Given the description of an element on the screen output the (x, y) to click on. 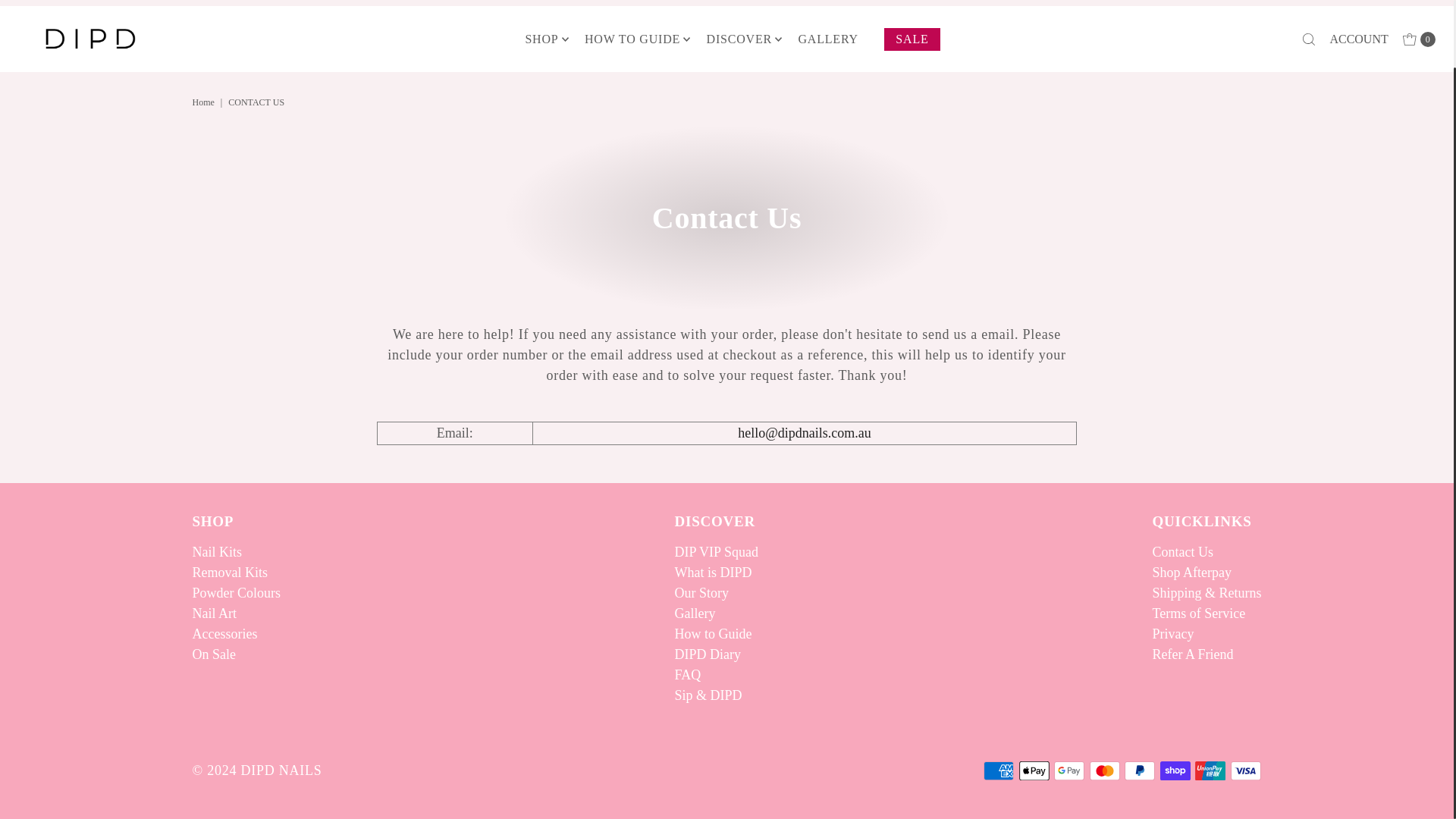
Visa (1245, 770)
Mastercard (1104, 770)
Google Pay (1069, 770)
PayPal (1139, 770)
Shop Pay (1175, 770)
Union Pay (1210, 770)
American Express (998, 770)
Apple Pay (1034, 770)
